Given the description of an element on the screen output the (x, y) to click on. 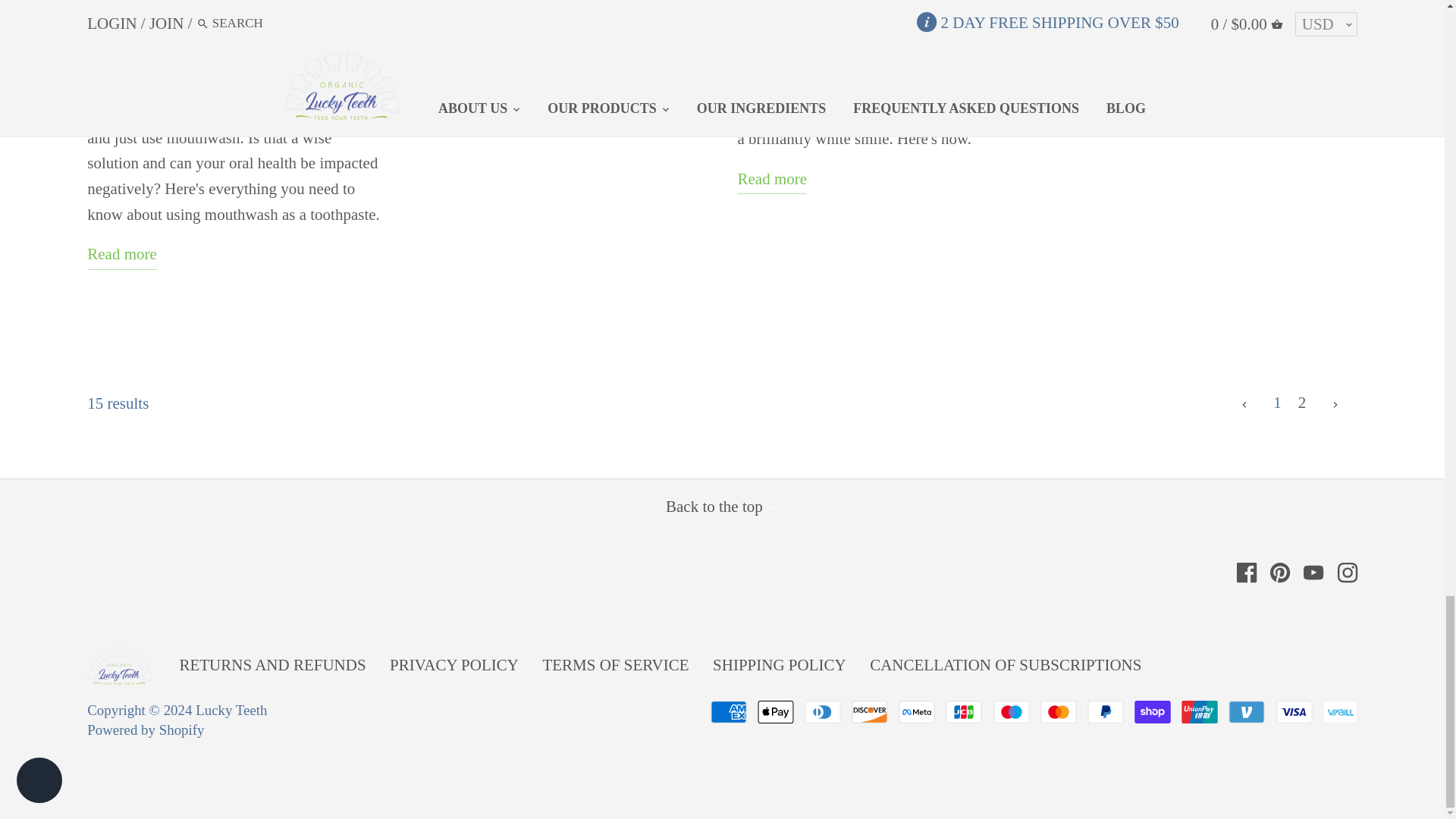
Facebook (1246, 572)
Instagram (1347, 571)
Facebook (1246, 571)
Youtube (1313, 571)
Pinterest (1279, 572)
Discover (869, 712)
Apple Pay (775, 712)
American Express (728, 712)
Instagram (1347, 572)
Pinterest (1279, 571)
